Given the description of an element on the screen output the (x, y) to click on. 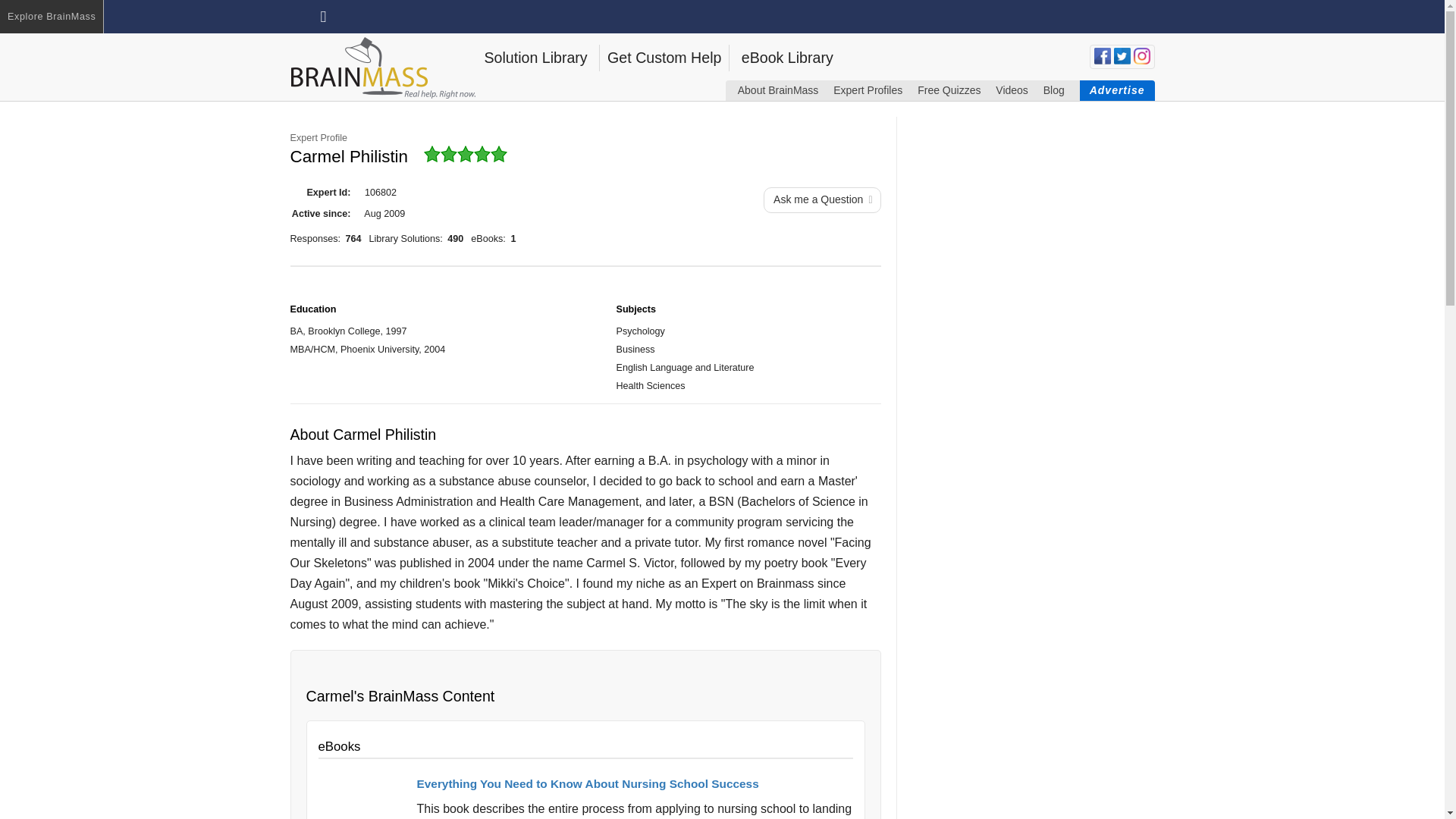
Everything You Need to Know About Nursing School Success (587, 783)
Ask me a Question (821, 199)
Blog (1053, 90)
Videos (1011, 90)
Free Quizzes (948, 90)
Get Custom Help (663, 57)
Expert Profiles (867, 90)
Advertise (1117, 90)
eBook Library (786, 57)
Solution Library (534, 57)
About BrainMass (778, 90)
